Given the description of an element on the screen output the (x, y) to click on. 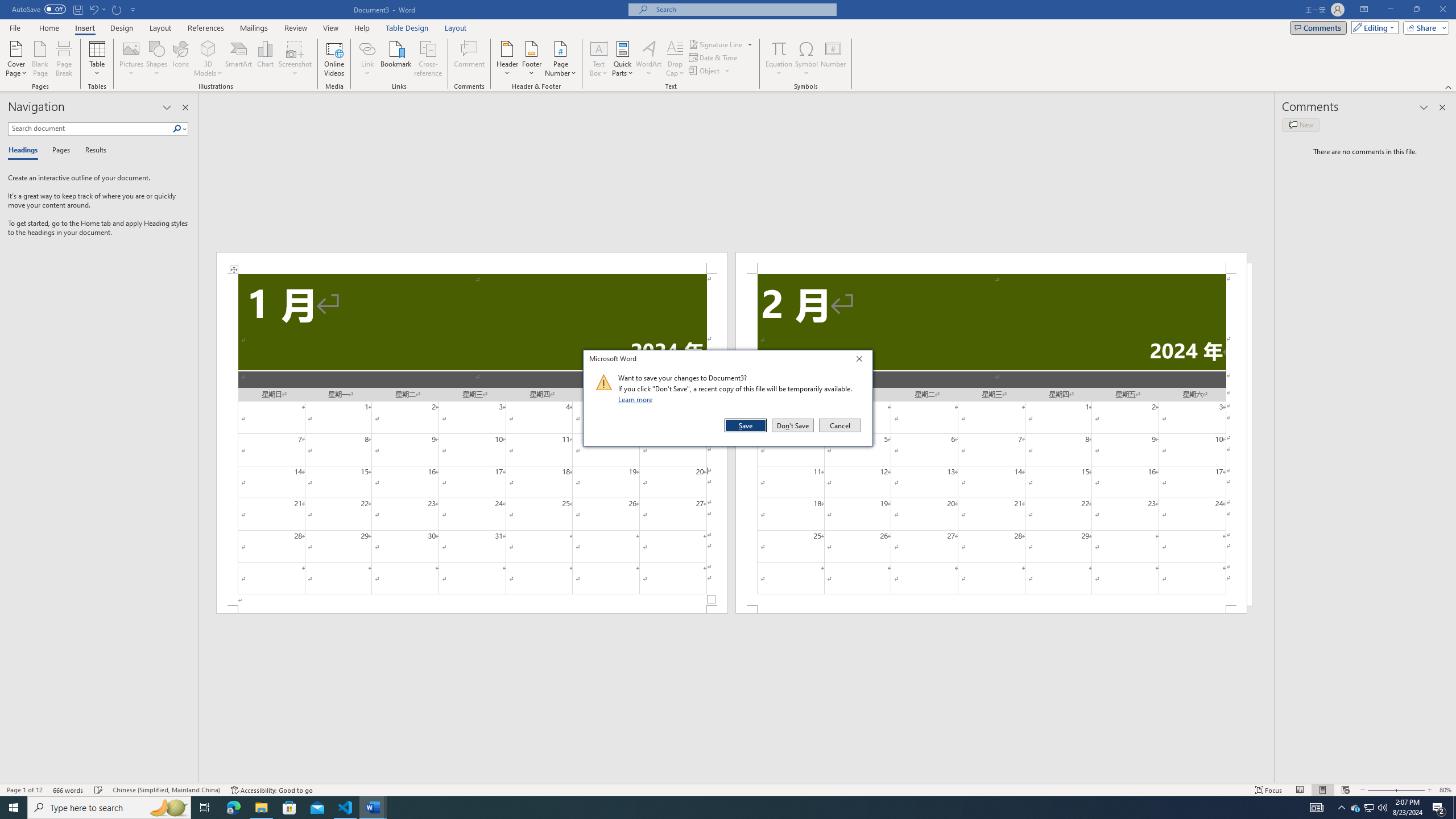
3D Models (208, 58)
New comment (1300, 124)
Chart... (265, 58)
Signature Line (721, 44)
SmartArt... (238, 58)
Pictures (131, 58)
